Given the description of an element on the screen output the (x, y) to click on. 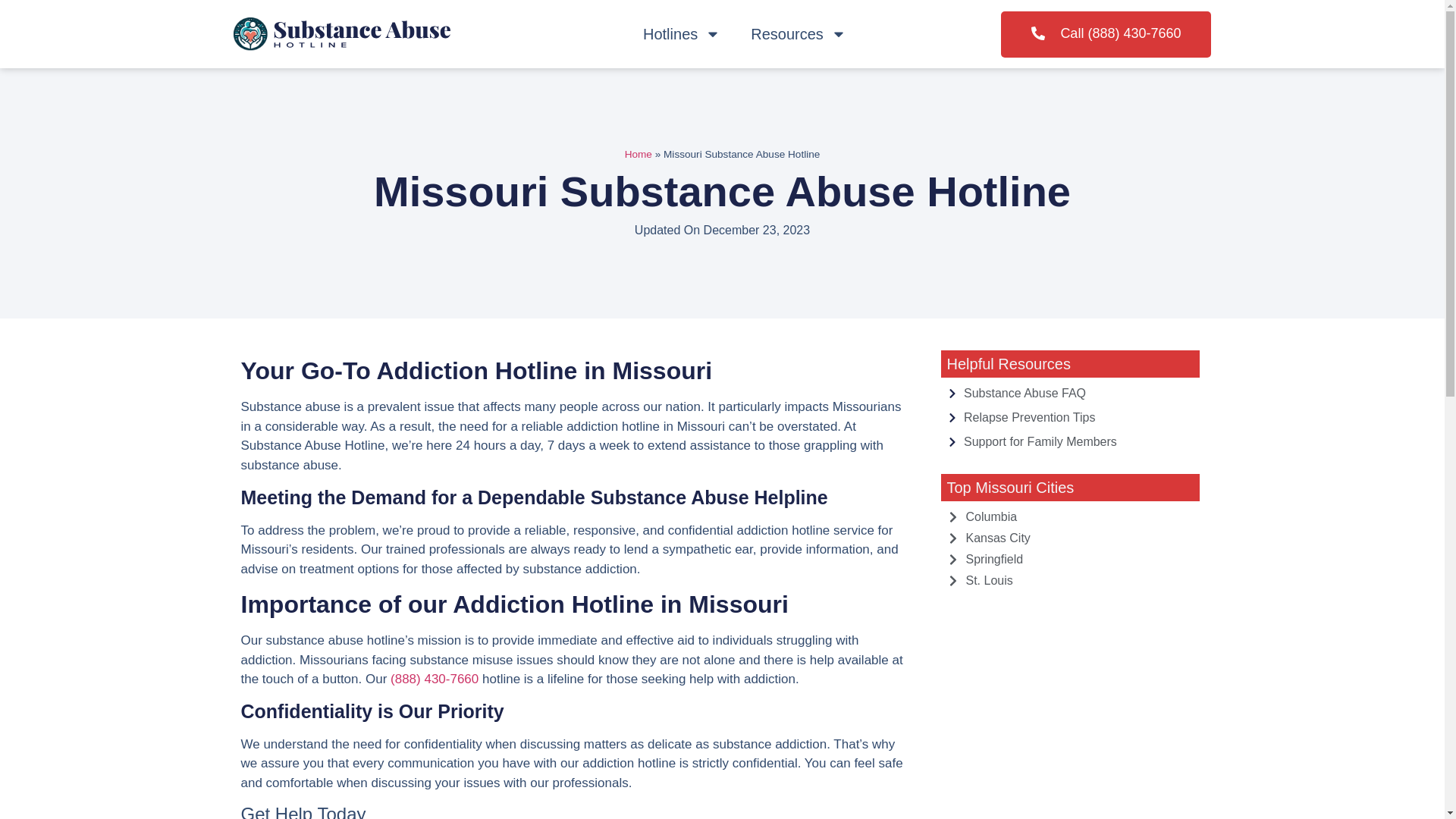
Home (638, 153)
Hotlines (681, 33)
Resources (798, 33)
